Given the description of an element on the screen output the (x, y) to click on. 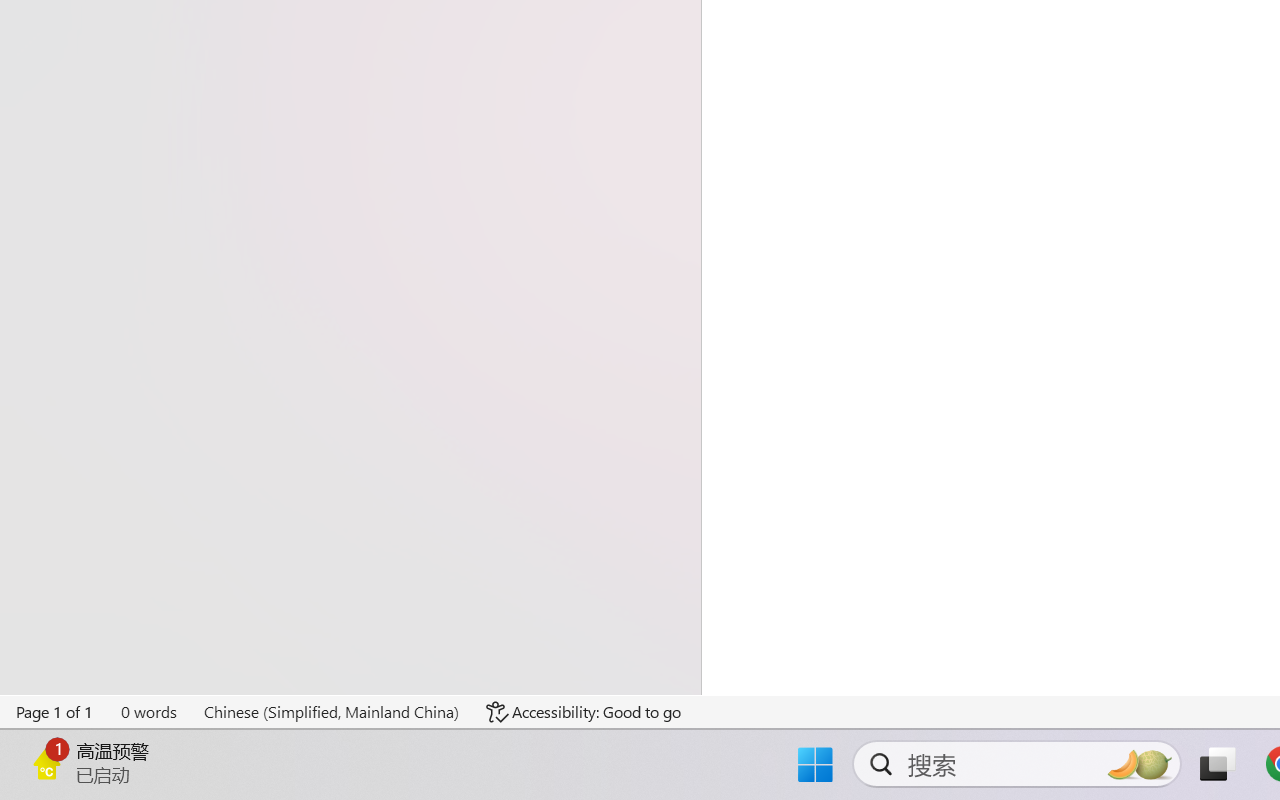
Language Chinese (Simplified, Mainland China) (331, 712)
